Given the description of an element on the screen output the (x, y) to click on. 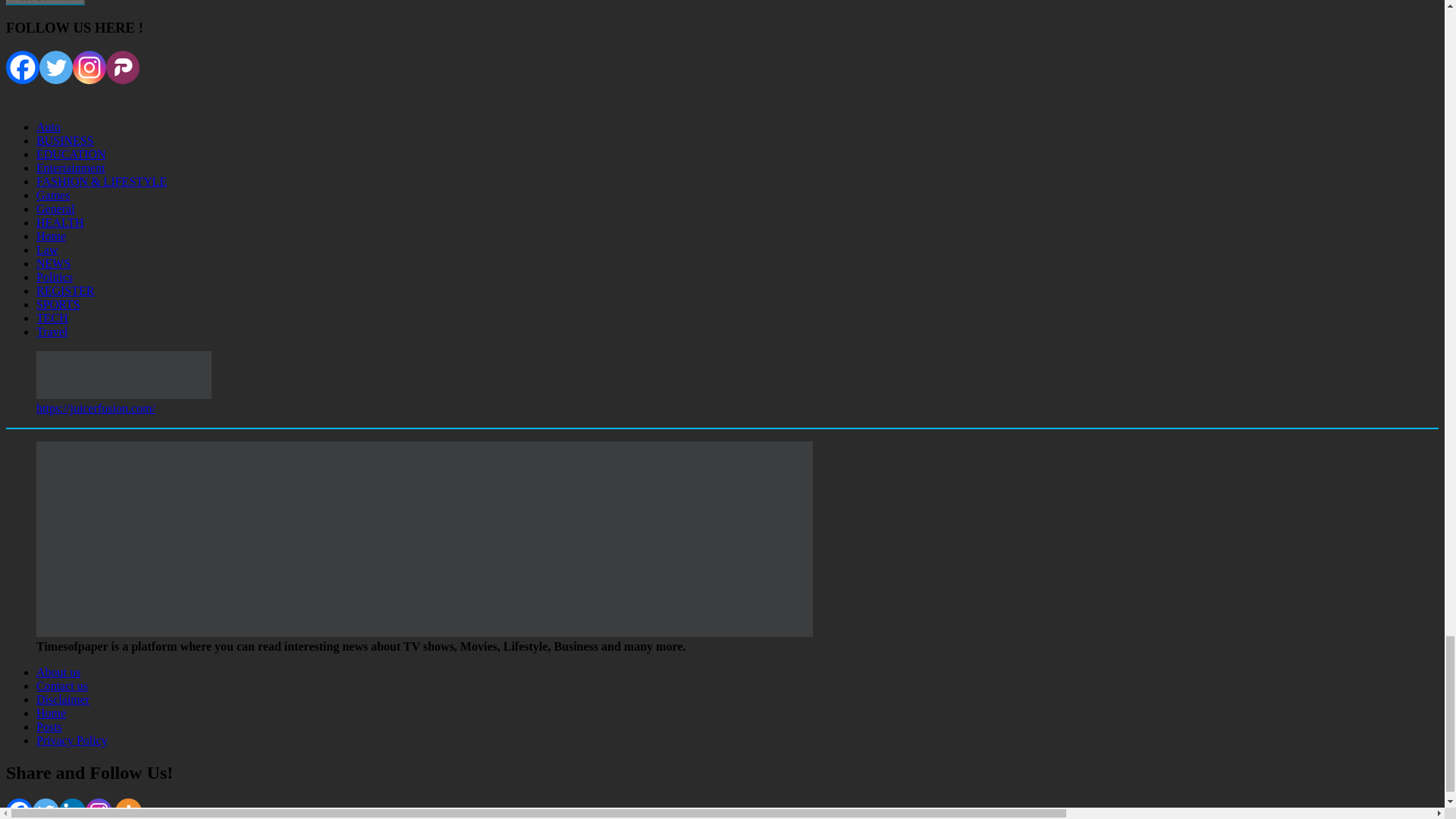
Facebook (22, 67)
Instagram (89, 67)
Parler (122, 67)
Twitter (55, 67)
Post Comment (44, 2)
